Given the description of an element on the screen output the (x, y) to click on. 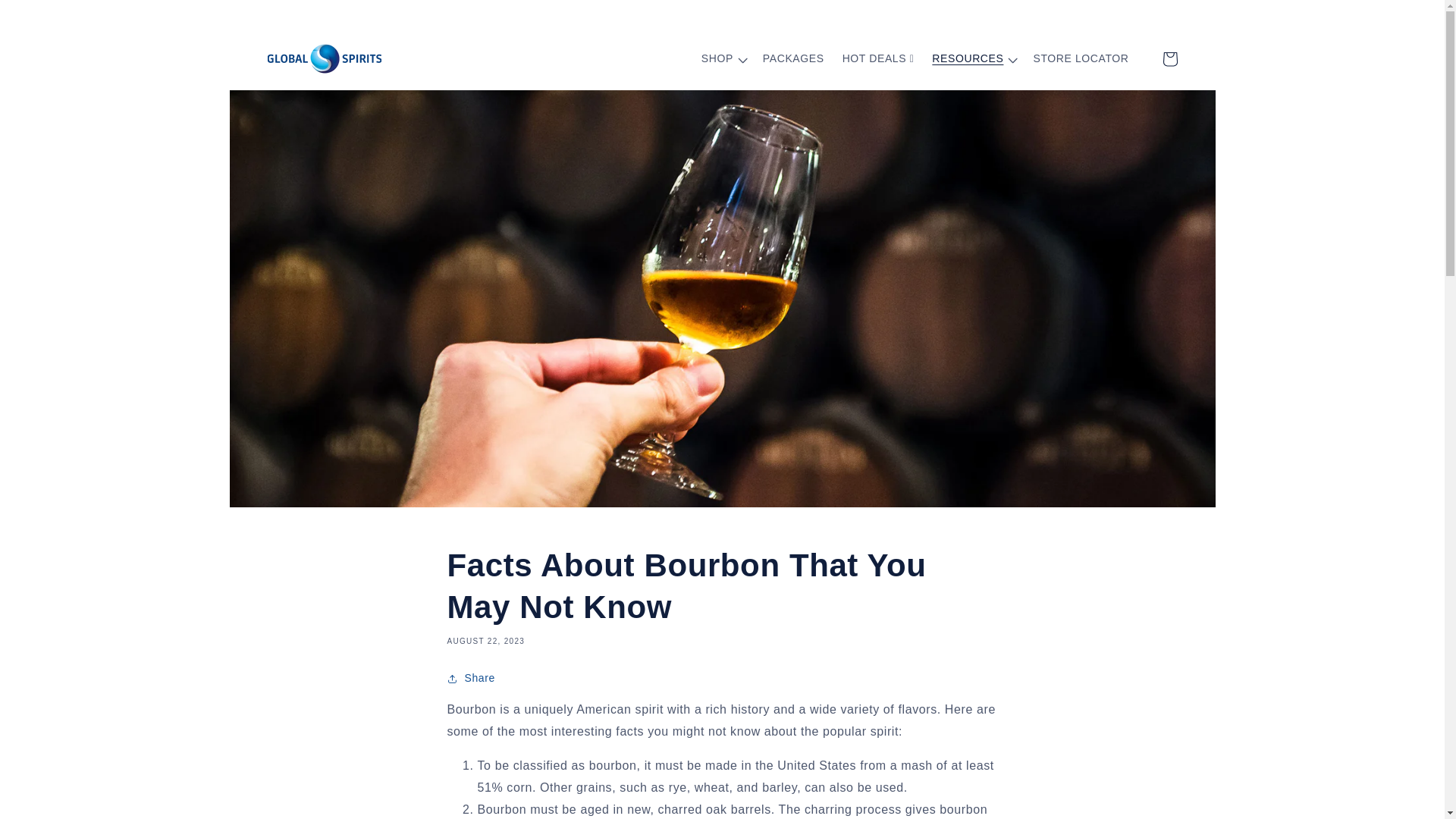
SKIP TO CONTENT (45, 44)
